Given the description of an element on the screen output the (x, y) to click on. 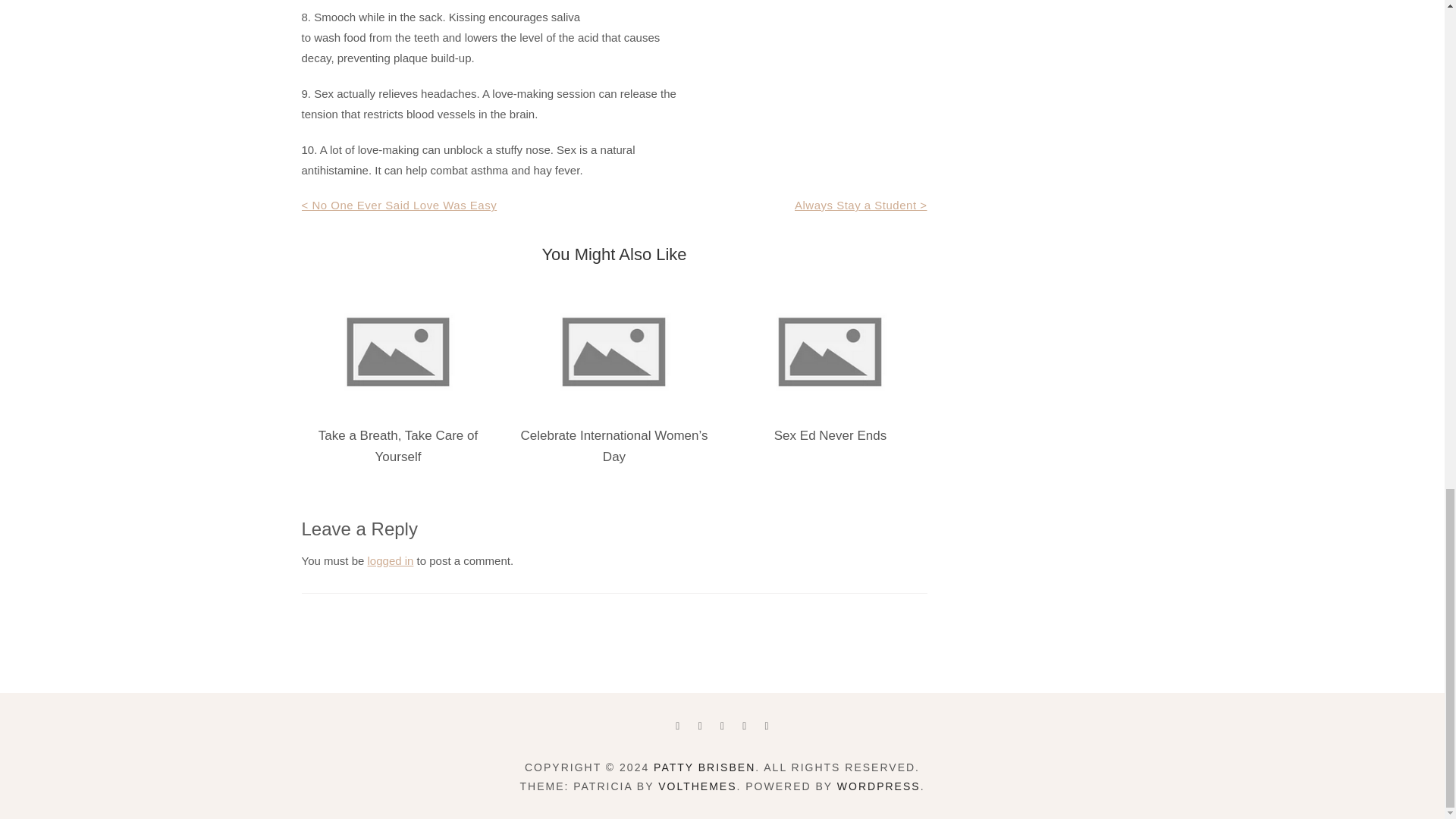
logged in (390, 560)
Patty Brisben (704, 767)
WordPress (878, 786)
Take a Breath, Take Care of Yourself (397, 446)
Sex Ed Never Ends (830, 435)
PATTY BRISBEN (704, 767)
VolThemes (697, 786)
